Given the description of an element on the screen output the (x, y) to click on. 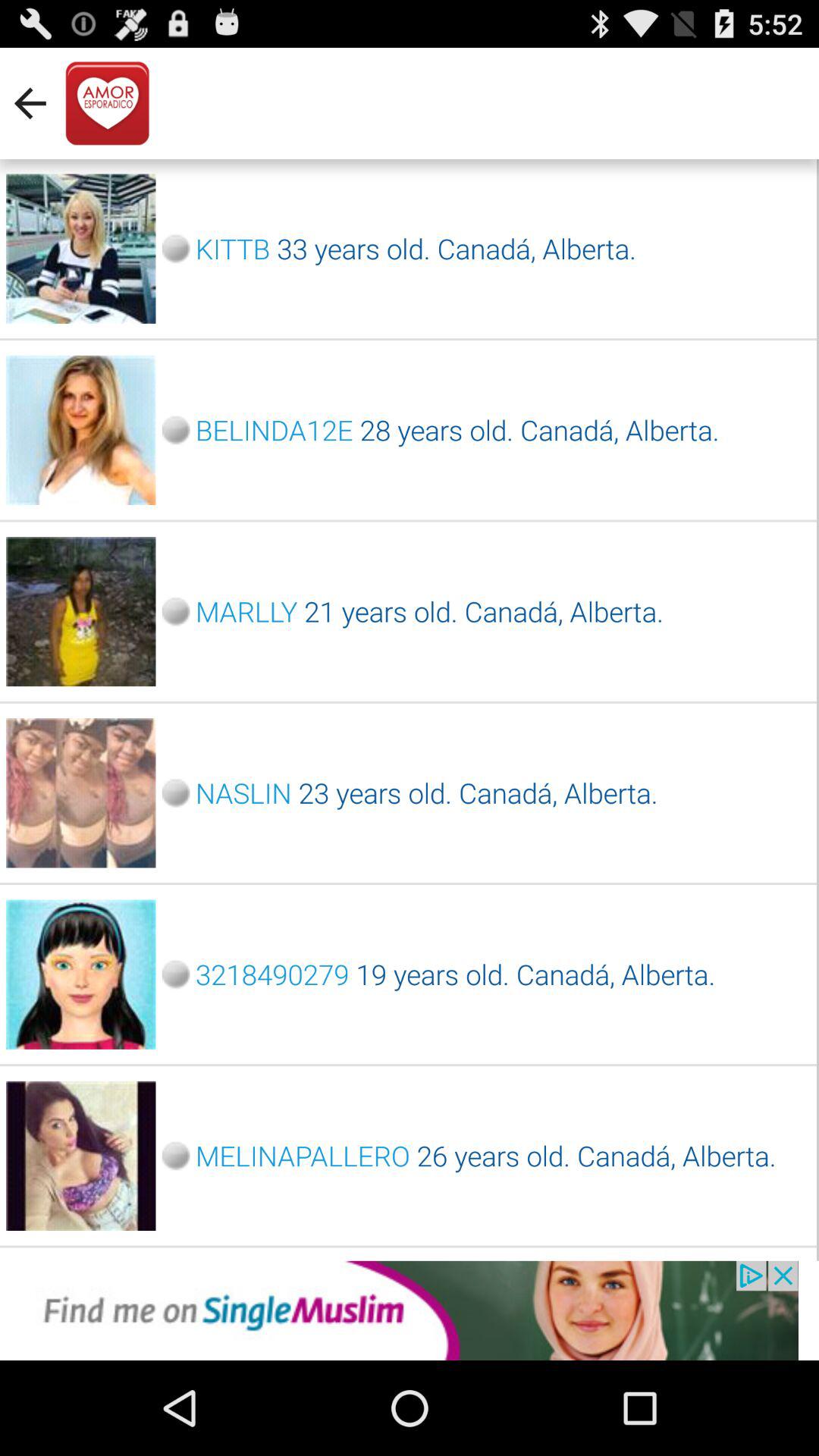
open an advertisements (409, 1310)
